Given the description of an element on the screen output the (x, y) to click on. 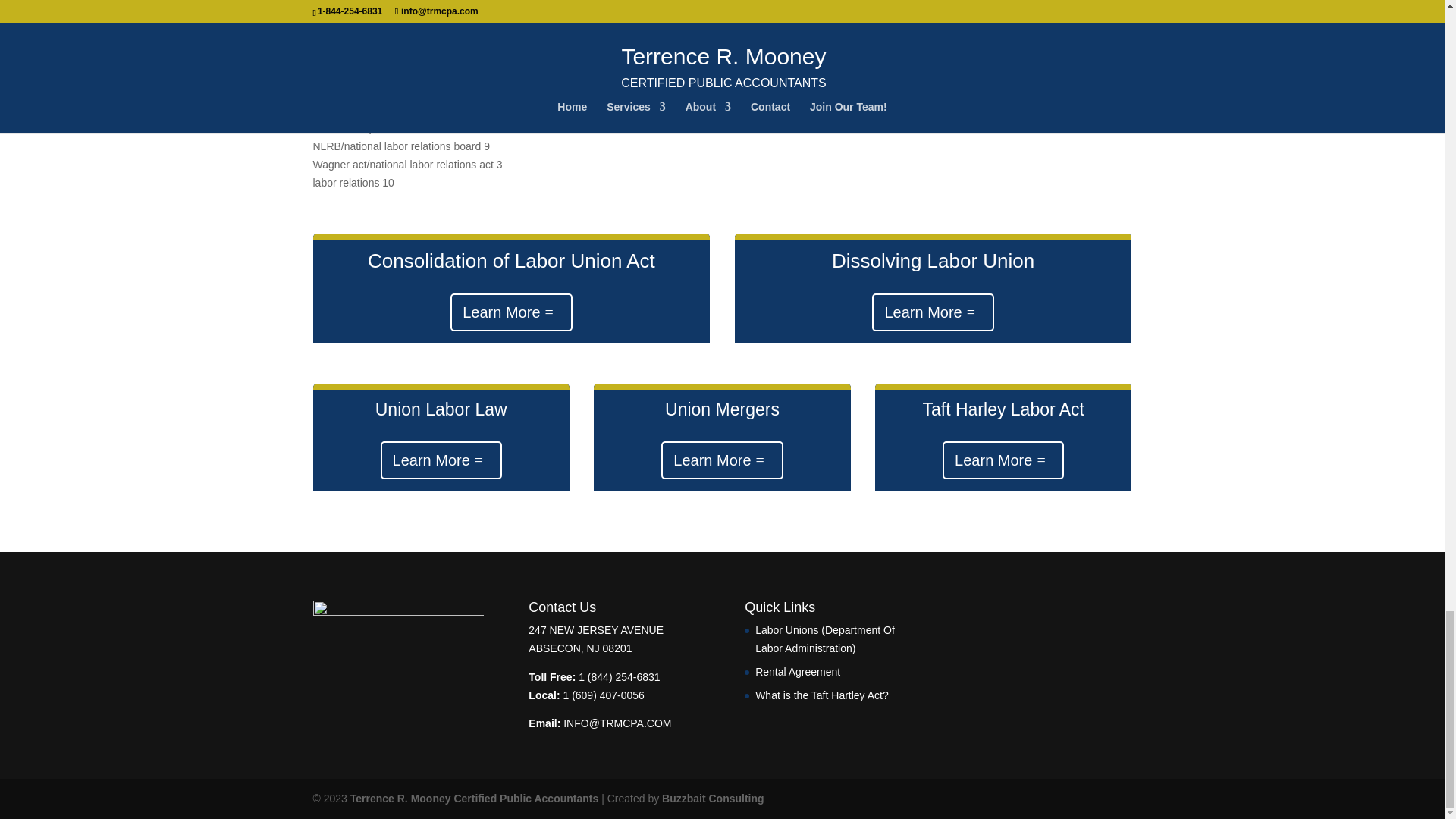
Learn More (722, 459)
Learn More (441, 459)
Learn More (510, 312)
Learn More (932, 312)
